Given the description of an element on the screen output the (x, y) to click on. 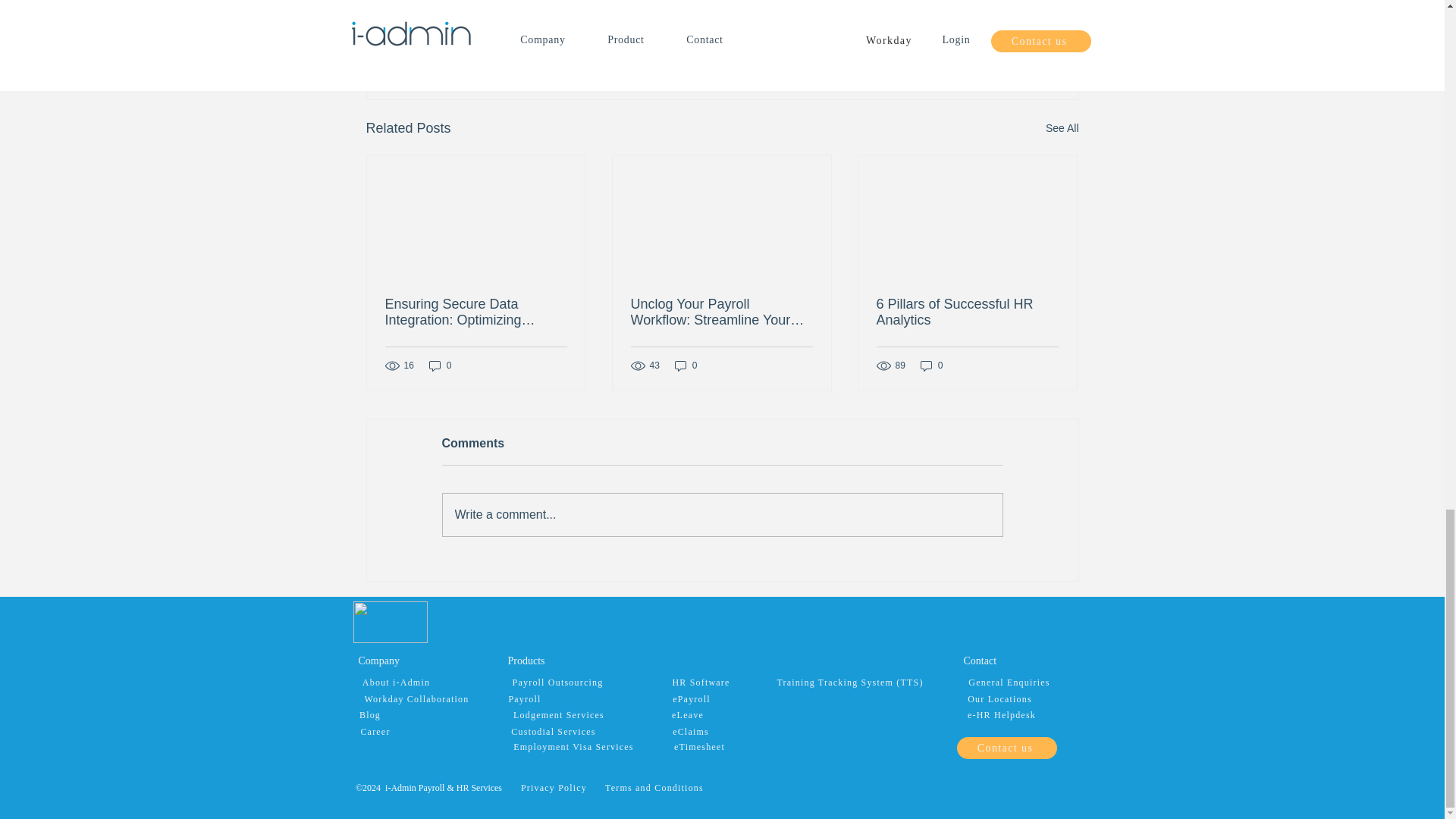
Human Resource Management (929, 3)
See All (1061, 128)
